Given the description of an element on the screen output the (x, y) to click on. 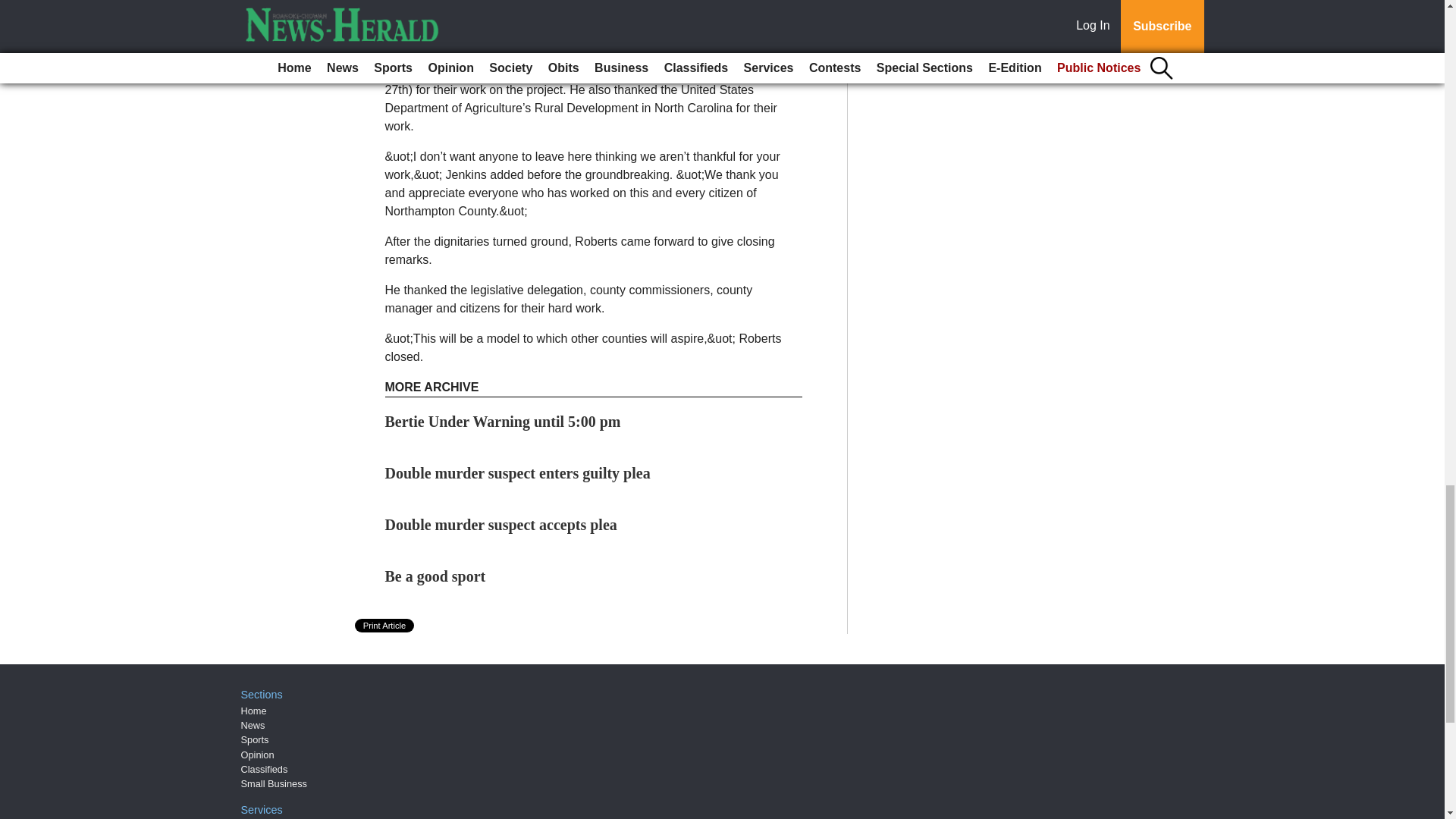
Double murder suspect accepts plea (501, 524)
Be a good sport (435, 576)
Bertie Under Warning until 5:00 pm (503, 421)
Be a good sport (435, 576)
Print Article (384, 625)
Bertie Under Warning until 5:00 pm (503, 421)
Double murder suspect enters guilty plea (517, 473)
Double murder suspect accepts plea (501, 524)
Double murder suspect enters guilty plea (517, 473)
